Given the description of an element on the screen output the (x, y) to click on. 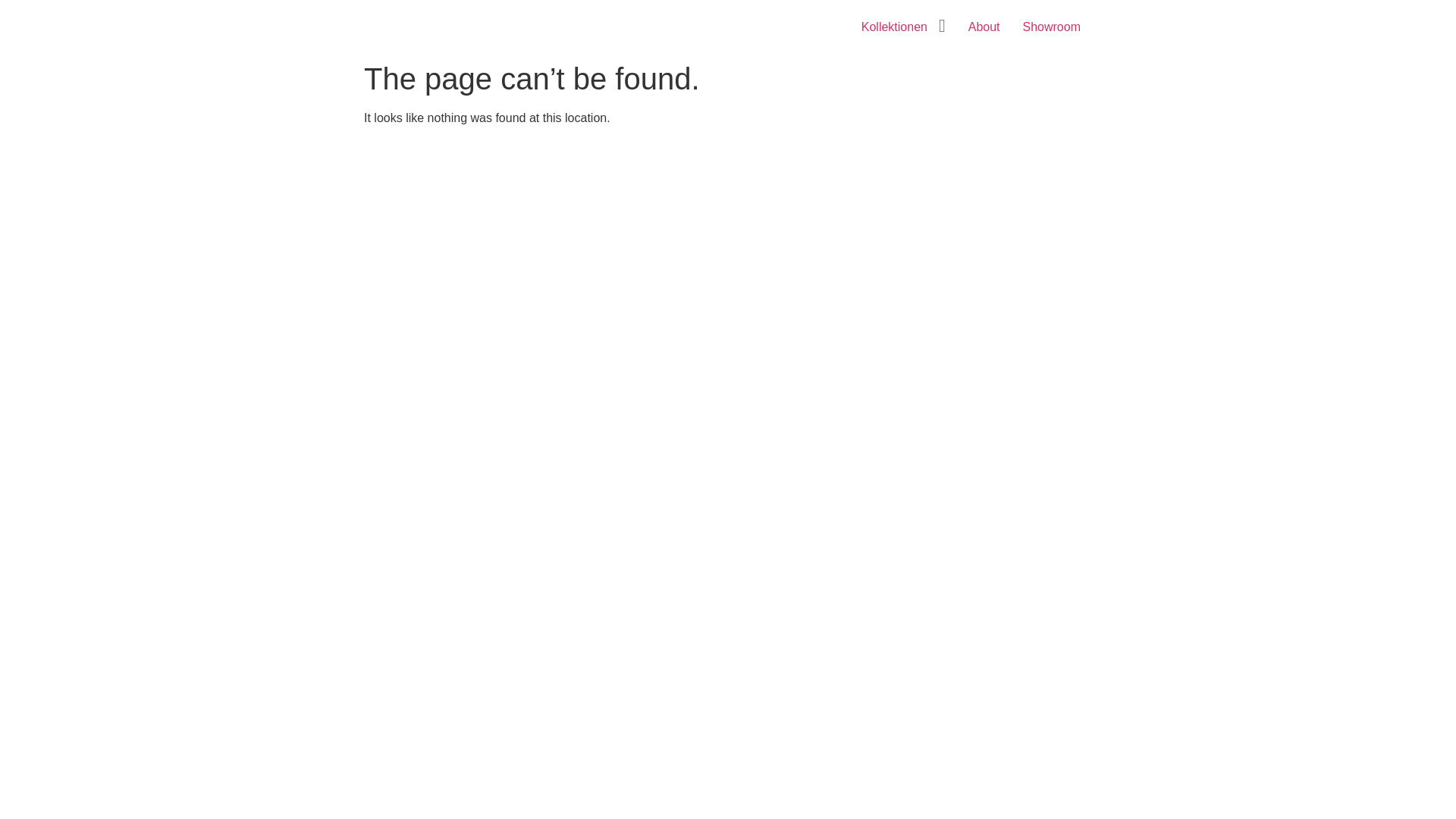
Kollektionen Element type: text (894, 27)
About Element type: text (984, 27)
Showroom Element type: text (1051, 27)
